Given the description of an element on the screen output the (x, y) to click on. 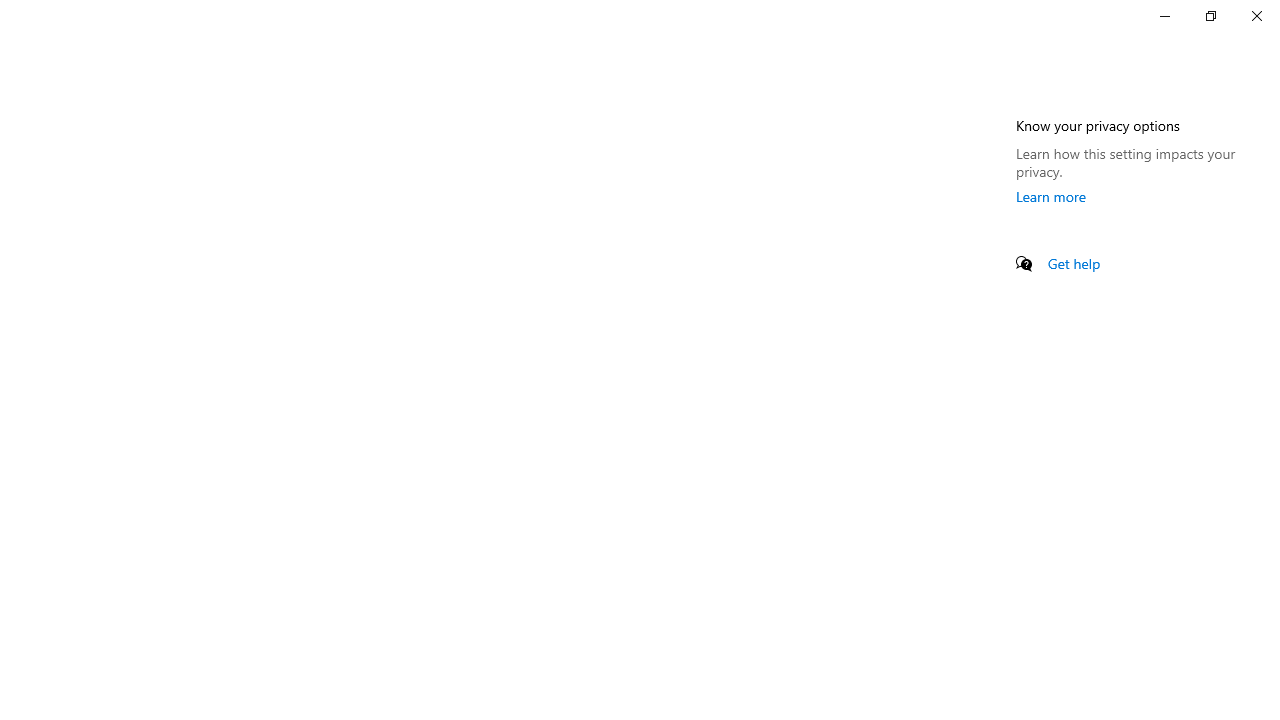
Get help (1074, 263)
Restore Settings (1210, 15)
Minimize Settings (1164, 15)
Close Settings (1256, 15)
Learn more (1051, 196)
